Given the description of an element on the screen output the (x, y) to click on. 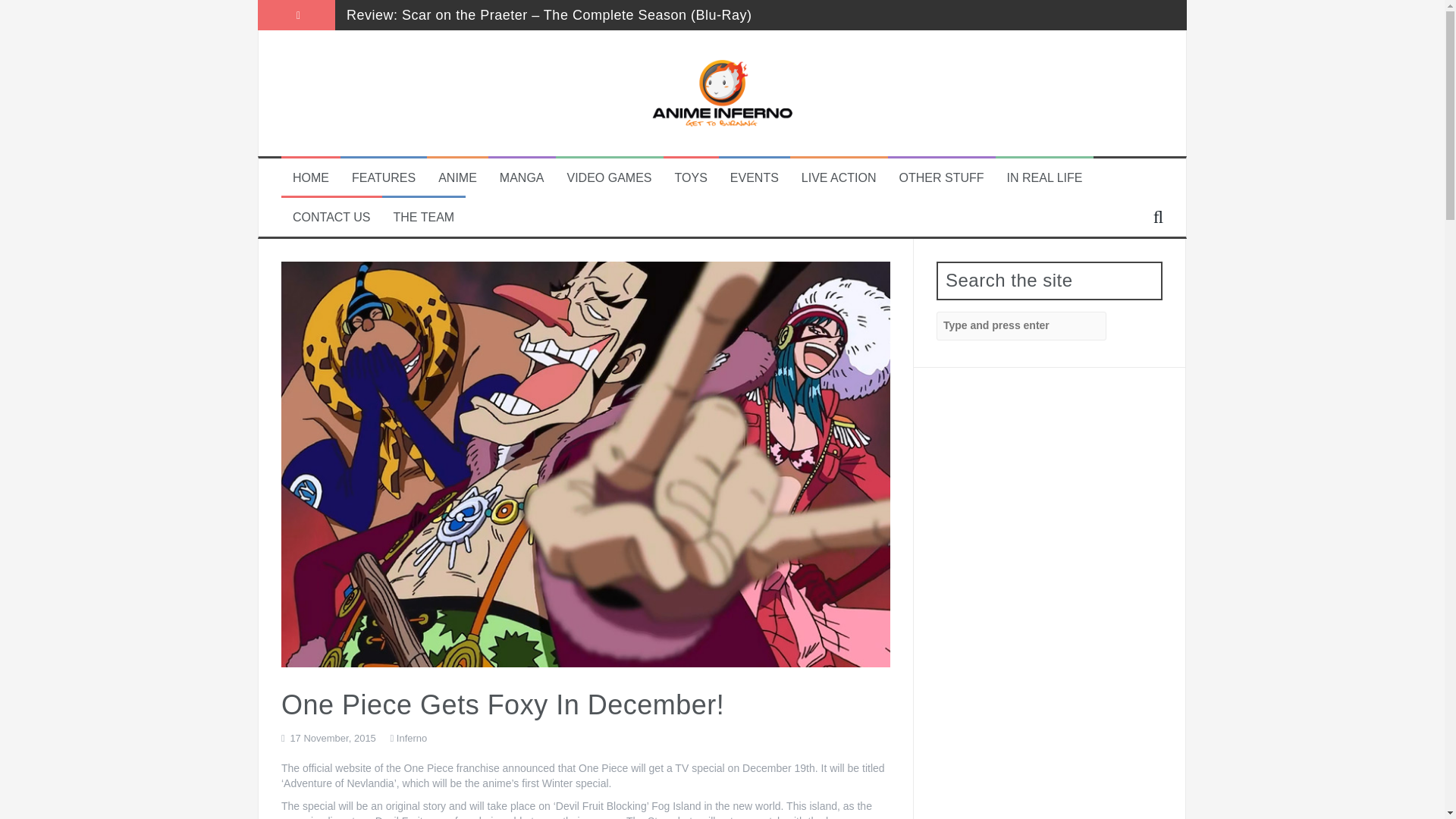
TOYS (691, 178)
HOME (310, 178)
ANIME (457, 178)
THE TEAM (423, 217)
17 November, 2015 (332, 737)
IN REAL LIFE (1045, 178)
Inferno (411, 737)
LIVE ACTION (839, 178)
OTHER STUFF (941, 178)
FEATURES (383, 178)
